Given the description of an element on the screen output the (x, y) to click on. 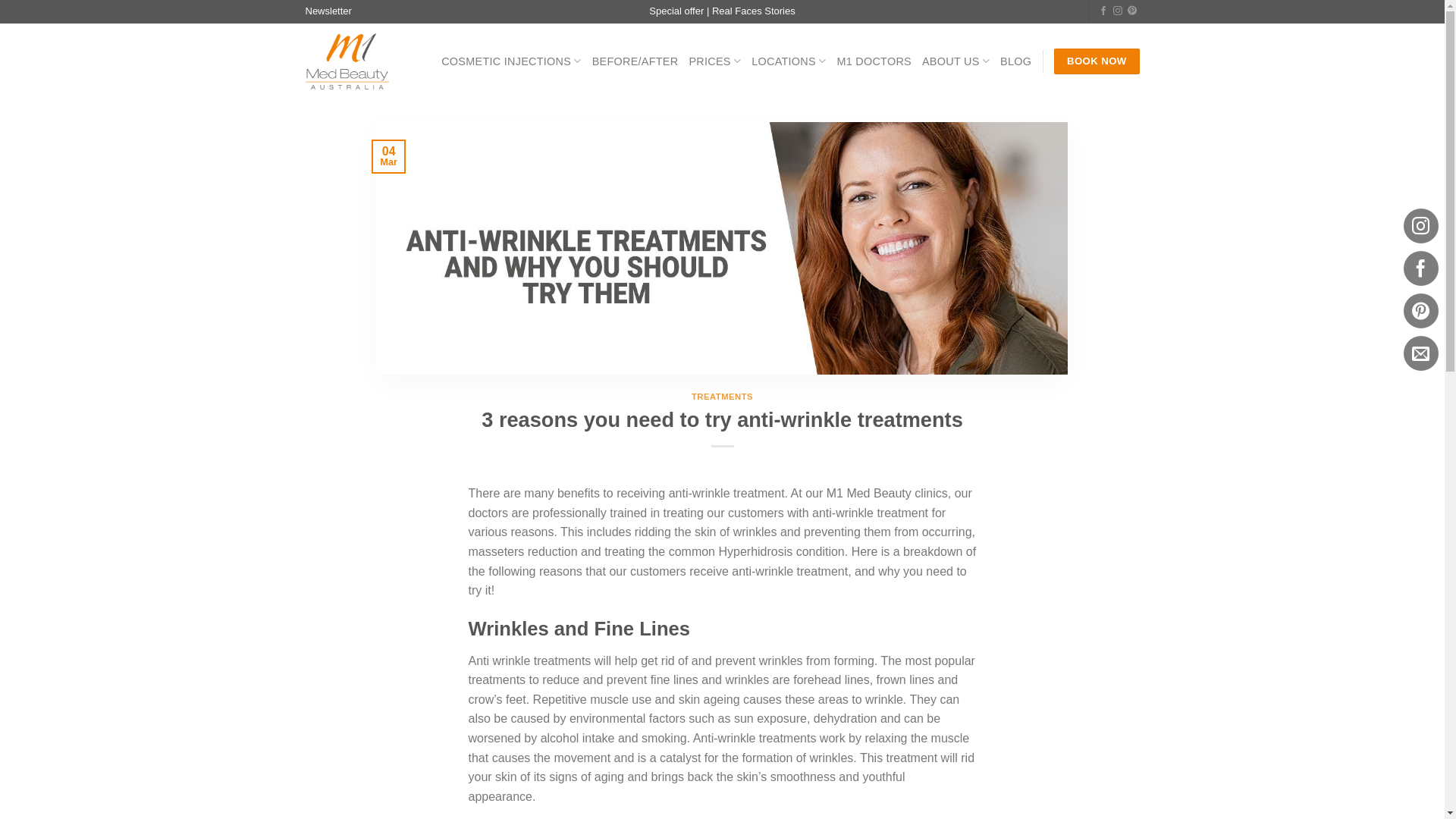
BOOK NOW Element type: text (1096, 61)
Follow on Pinterest Element type: hover (1131, 11)
Newsletter Element type: text (327, 11)
BEFORE/AFTER Element type: text (635, 61)
Real Faces Stories Element type: text (753, 10)
TREATMENTS Element type: text (722, 396)
Special offer Element type: text (676, 10)
M1 DOCTORS Element type: text (873, 61)
ABOUT US Element type: text (955, 60)
COSMETIC INJECTIONS Element type: text (510, 60)
Follow on Instagram Element type: hover (1117, 11)
Follow on Facebook Element type: hover (1102, 11)
BLOG Element type: text (1015, 61)
PRICES Element type: text (714, 60)
LOCATIONS Element type: text (788, 60)
M1 Med Beauty Australia Element type: hover (346, 61)
